Given the description of an element on the screen output the (x, y) to click on. 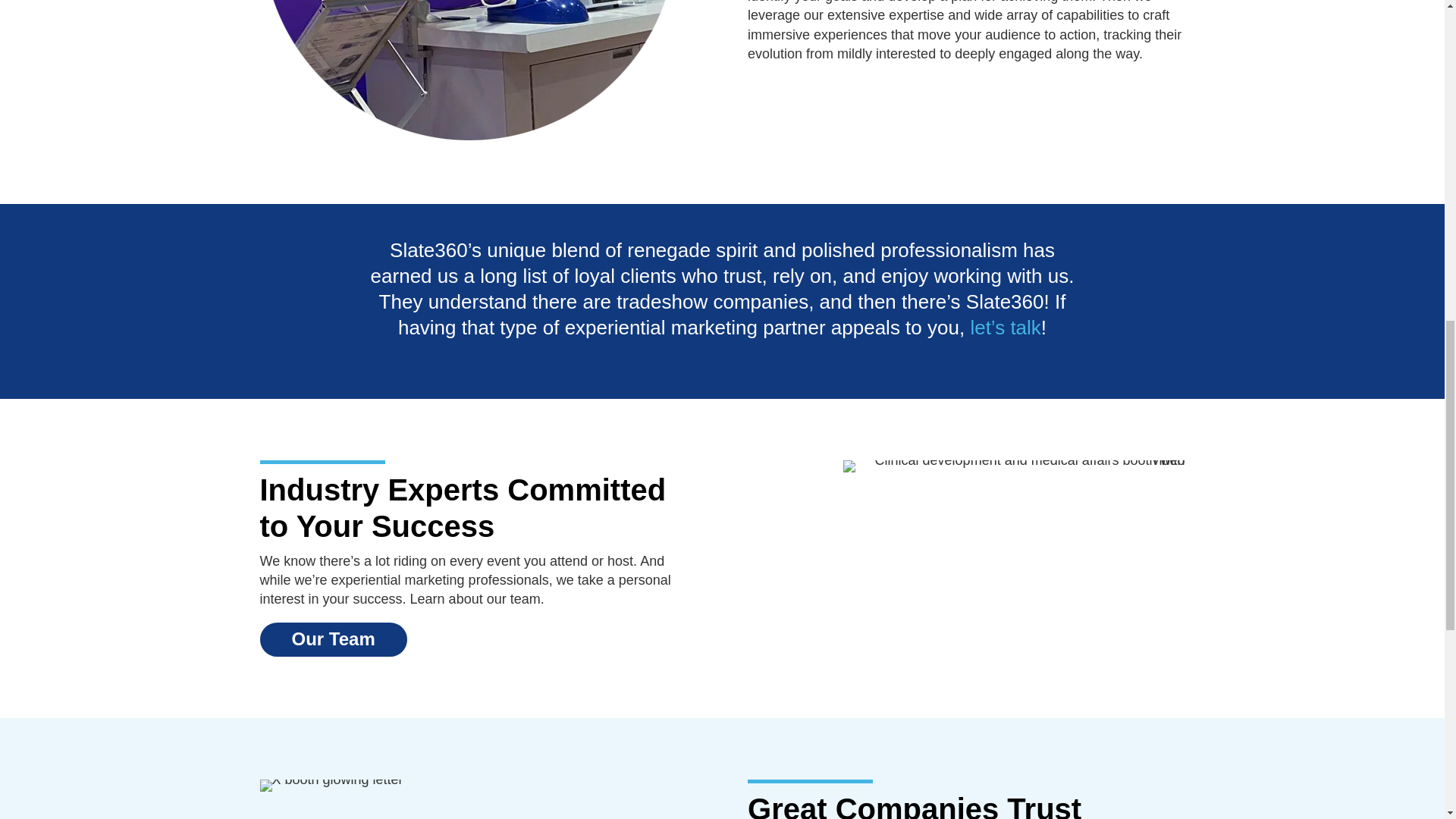
large-circle-aer-sight (1014, 459)
large-circle-purple-booth (468, 137)
large-circle-xbooth (331, 779)
Our Team (332, 639)
